Given the description of an element on the screen output the (x, y) to click on. 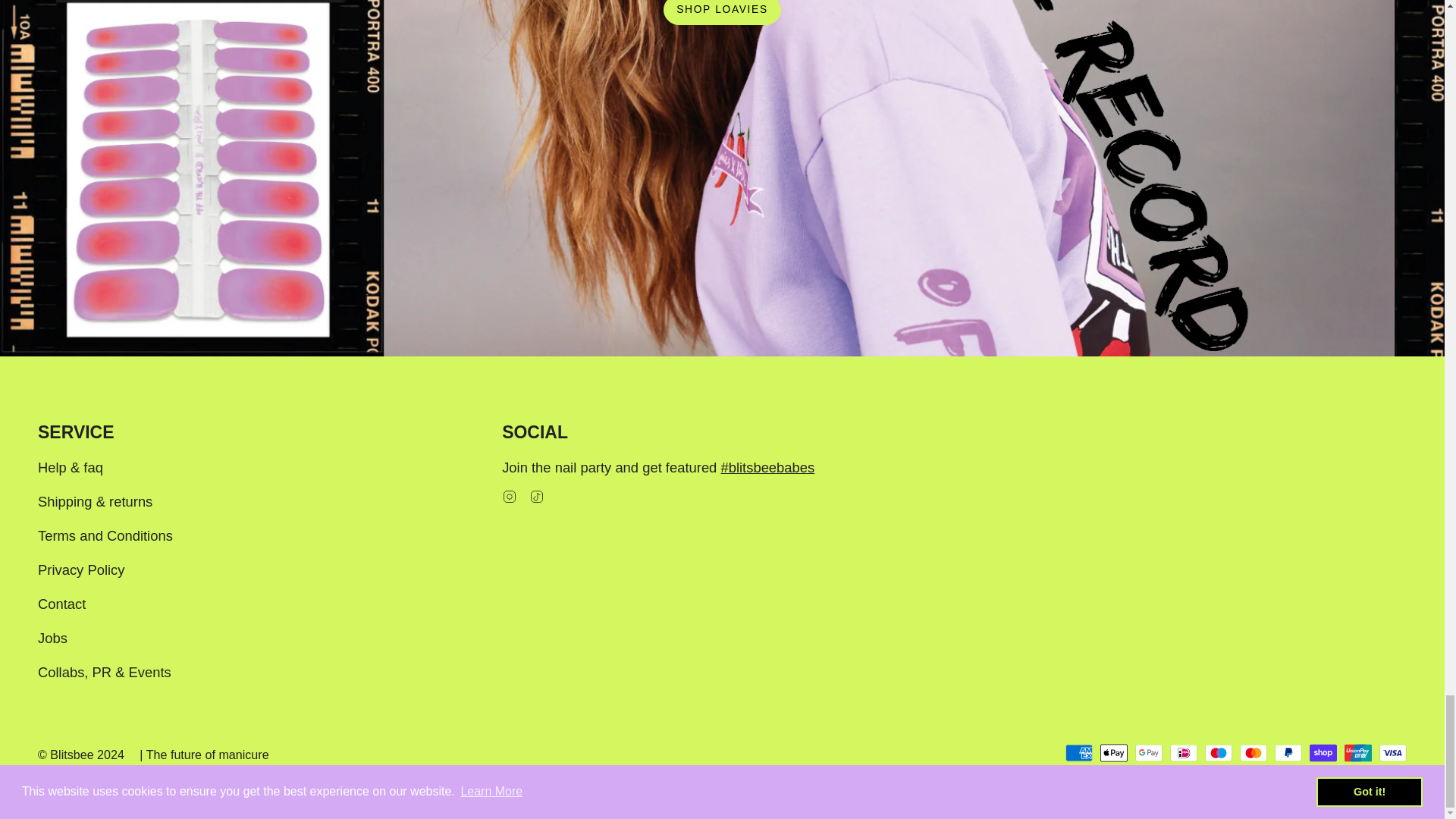
Apple Pay (1113, 752)
Google Pay (1148, 752)
Shop Pay (1322, 752)
Mastercard (1253, 752)
Union Pay (1357, 752)
American Express (1079, 752)
Blitsbee on TikTok (536, 495)
Maestro (1218, 752)
PayPal (1288, 752)
Blitsbee on Instagram (509, 495)
Visa (1392, 752)
iDEAL (1183, 752)
